Given the description of an element on the screen output the (x, y) to click on. 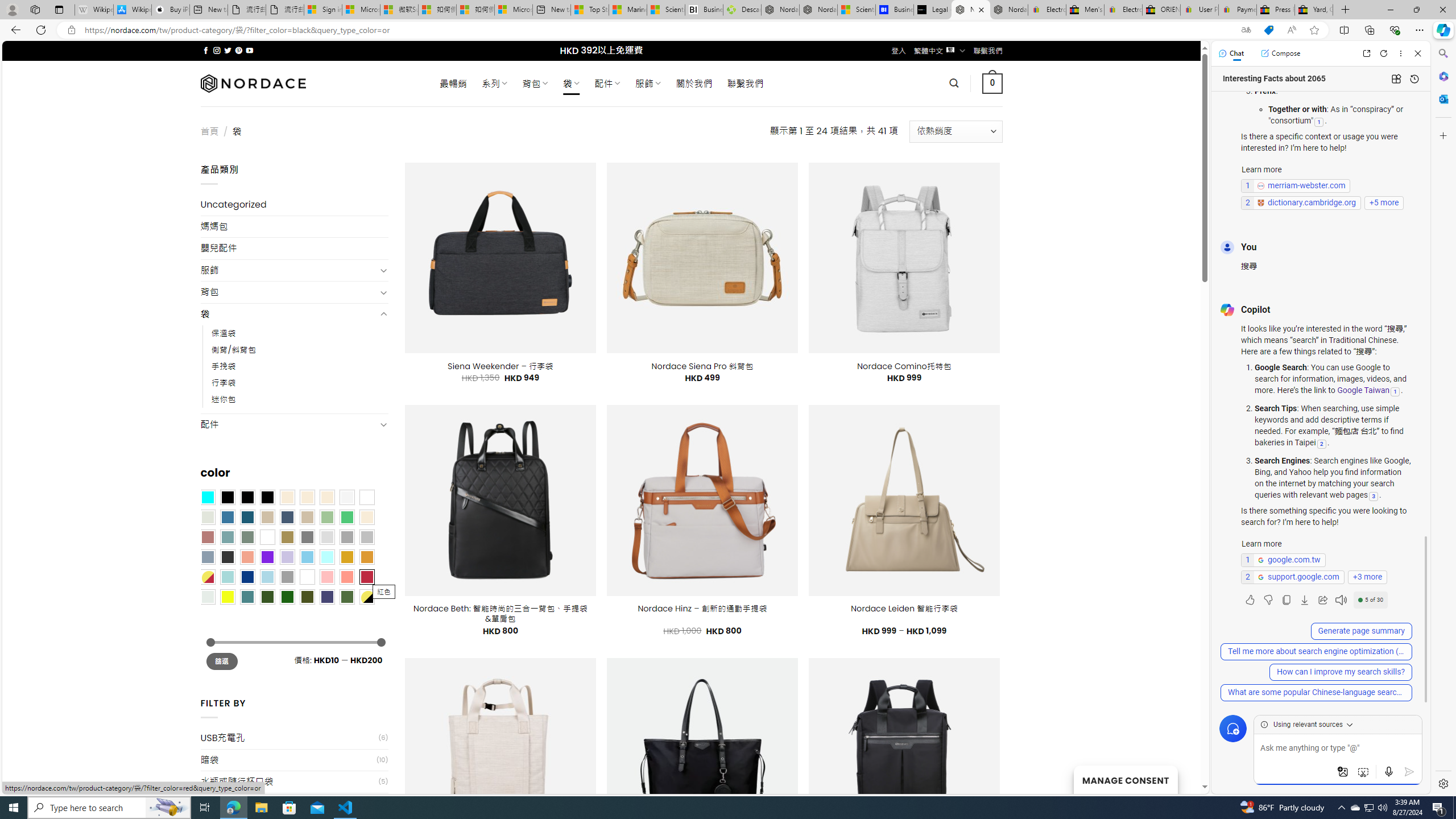
Follow on Twitter (227, 50)
 0  (992, 83)
Minimize Search pane (1442, 53)
